Given the description of an element on the screen output the (x, y) to click on. 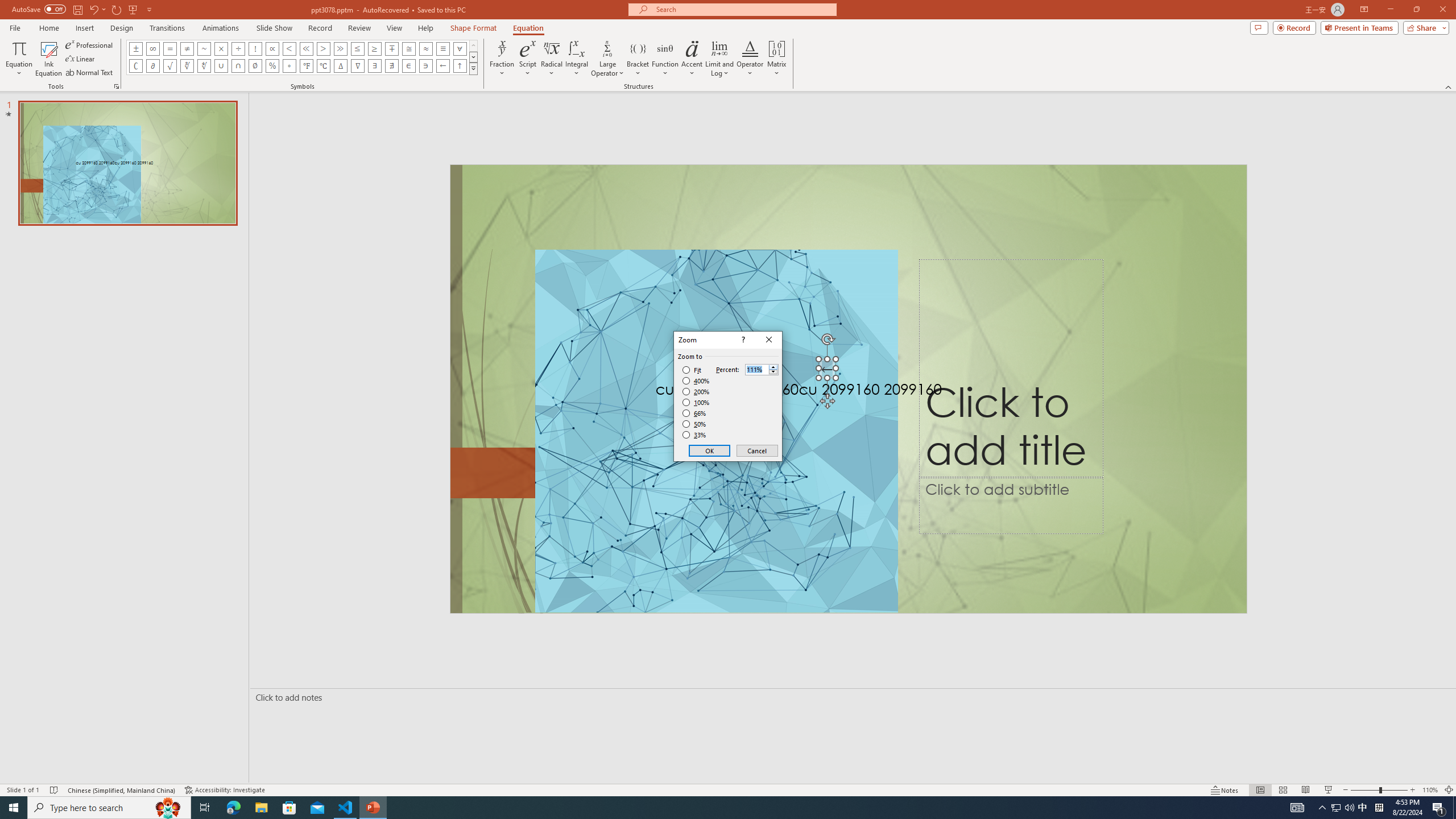
Equation Symbol Left Arrow (442, 65)
Equation Symbol Empty Set (255, 65)
Equation Symbol For All (459, 48)
Equation Symbol Factorial (255, 48)
Equation Symbol Minus Plus (391, 48)
Equation Symbol Less Than or Equal To (357, 48)
Equation Symbol Degrees Fahrenheit (306, 65)
